Given the description of an element on the screen output the (x, y) to click on. 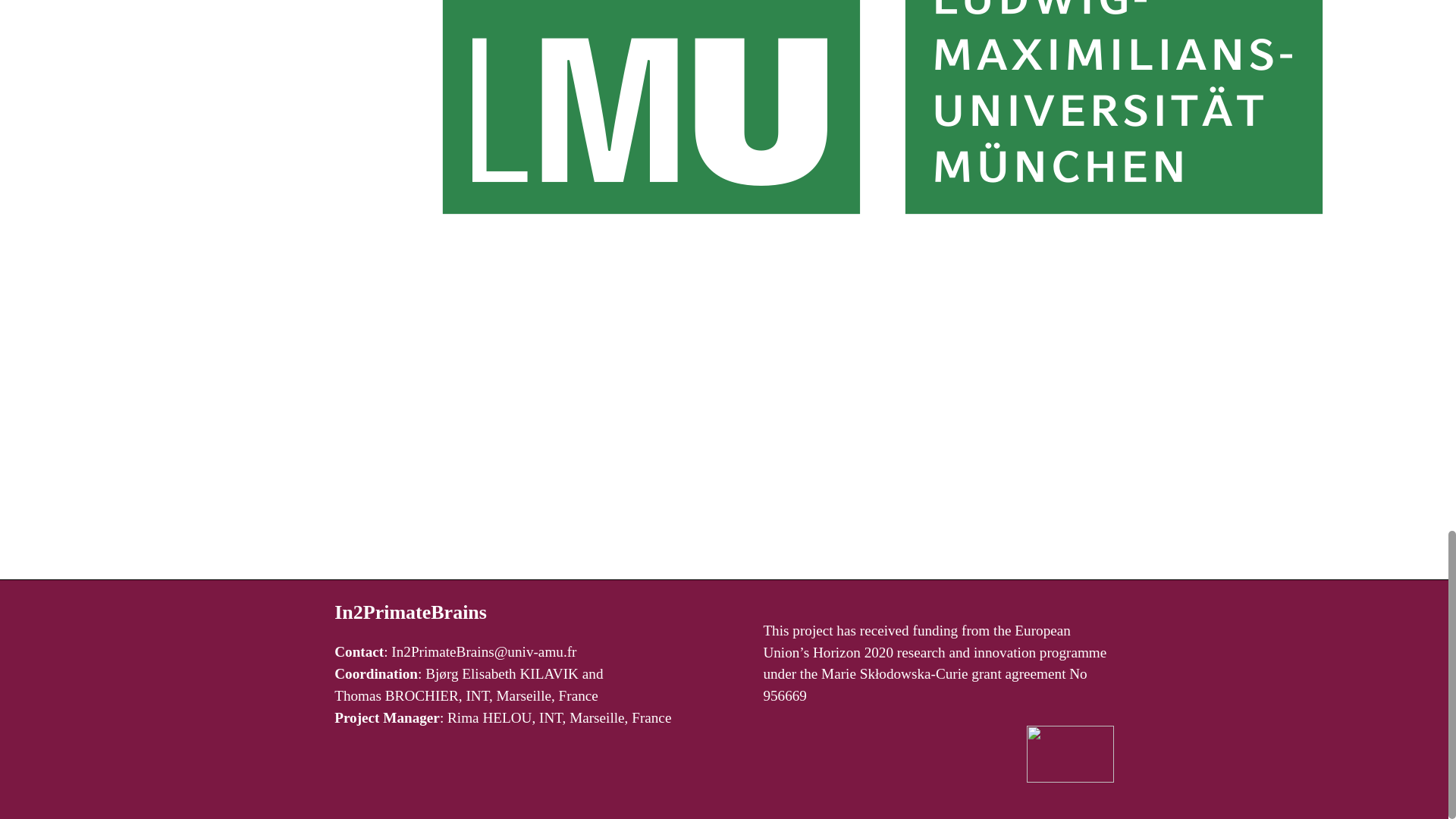
Rima HELOU (488, 717)
Thomas BROCHIER (396, 695)
